Given the description of an element on the screen output the (x, y) to click on. 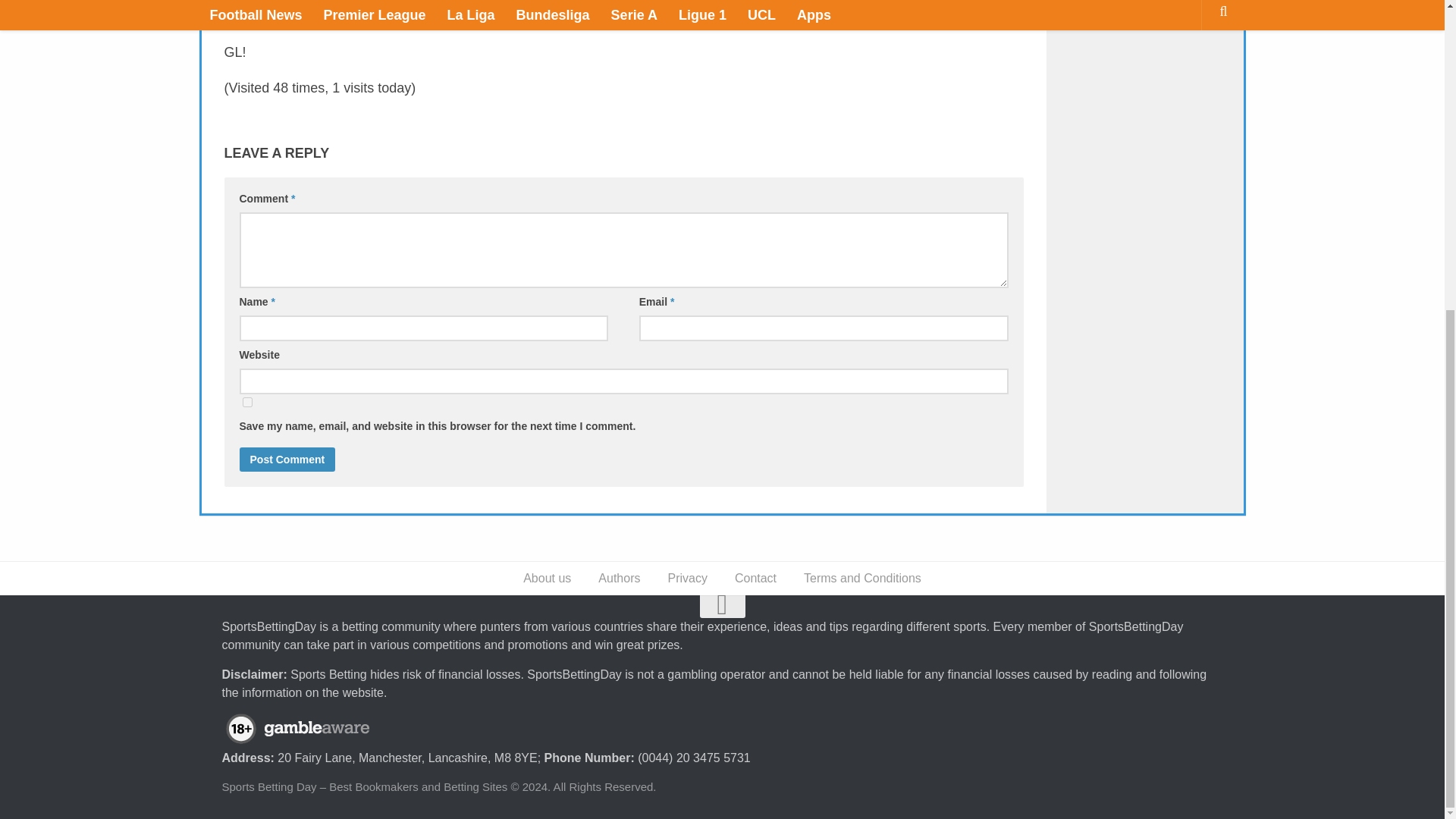
About us (547, 578)
yes (247, 402)
Terms and Conditions (862, 578)
Contact (755, 578)
Post Comment (288, 459)
Post Comment (288, 459)
Privacy (686, 578)
Authors (619, 578)
